Given the description of an element on the screen output the (x, y) to click on. 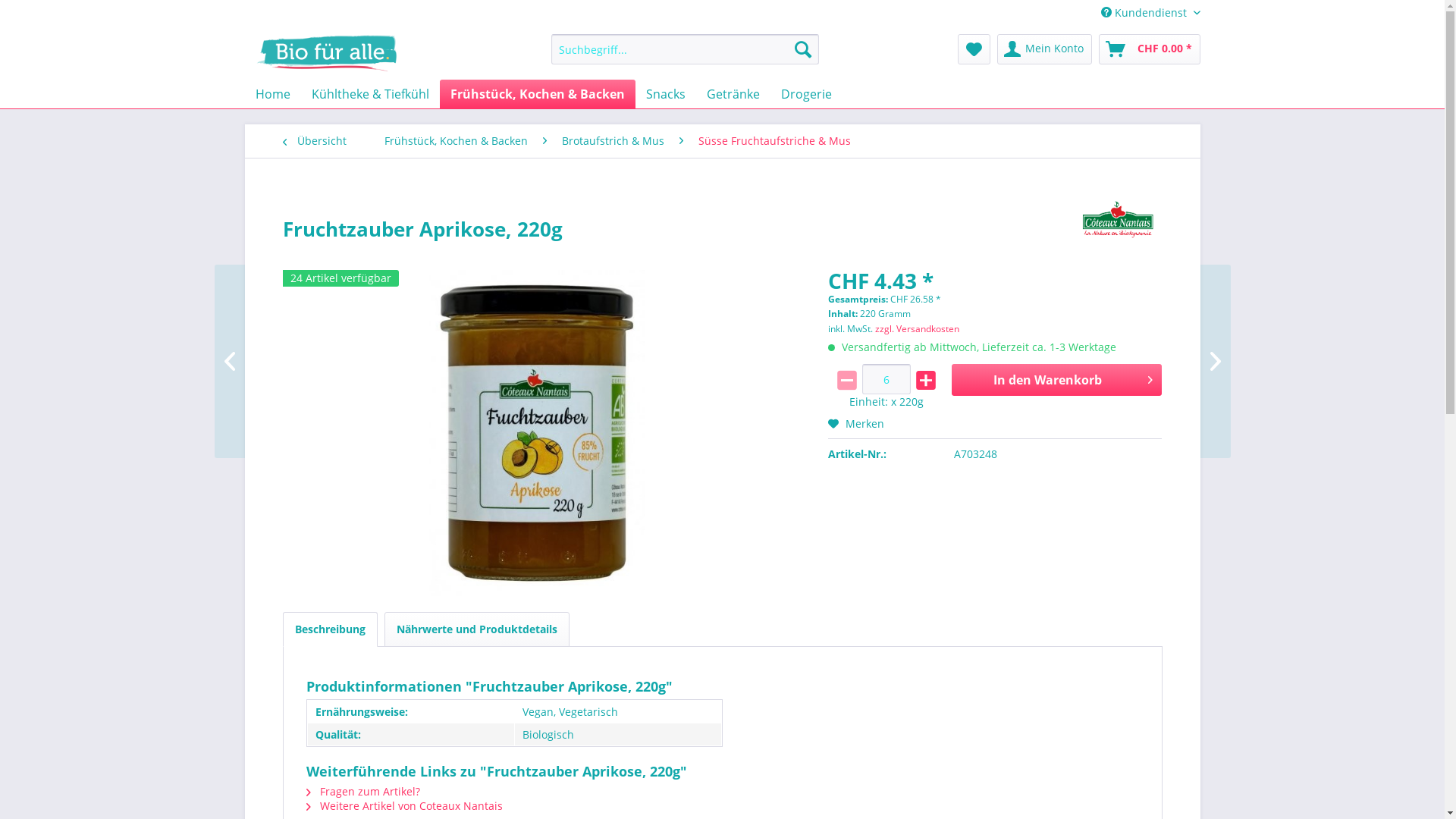
CHF 0.00 * Element type: text (1148, 49)
Drogerie Element type: text (806, 93)
Home Element type: text (272, 93)
Mein Konto Element type: text (1043, 49)
Brotaufstrich & Mus Element type: text (612, 140)
In den Warenkorb Element type: text (1056, 379)
Fruchtzauber Gelber Pfirsich, 220g Element type: hover (1139, 361)
Zitronen-Marmelade aus Sizilien, 360g Element type: hover (304, 361)
Weitere Artikel von Coteaux Nantais Element type: hover (1117, 218)
Weitere Artikel von Coteaux Nantais Element type: text (404, 805)
Beschreibung Element type: text (329, 628)
Merkzettel Element type: hover (973, 49)
Snacks Element type: text (665, 93)
zzgl. Versandkosten Element type: text (917, 328)
Merken Element type: text (856, 423)
Fragen zum Artikel? Element type: text (363, 791)
